Given the description of an element on the screen output the (x, y) to click on. 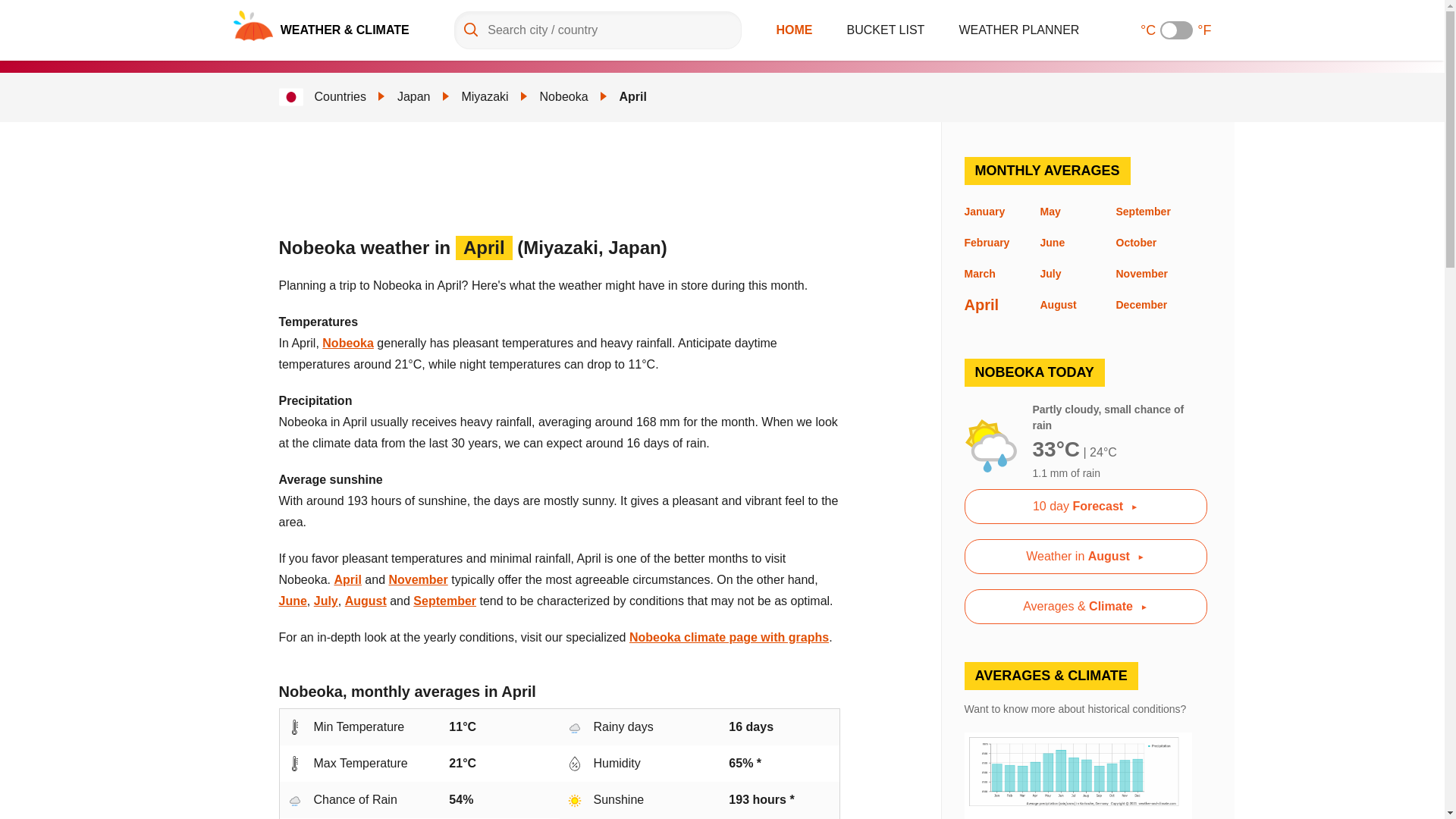
July (325, 600)
Weather and climate homepage (252, 25)
WEATHER PLANNER (1019, 30)
Nobeoka (347, 342)
August (366, 600)
April (347, 579)
Miyazaki (484, 96)
Advertisement (555, 178)
BUCKET LIST (885, 30)
Countries (339, 96)
September (444, 600)
November (417, 579)
June (293, 600)
Japan (413, 96)
April (632, 96)
